Given the description of an element on the screen output the (x, y) to click on. 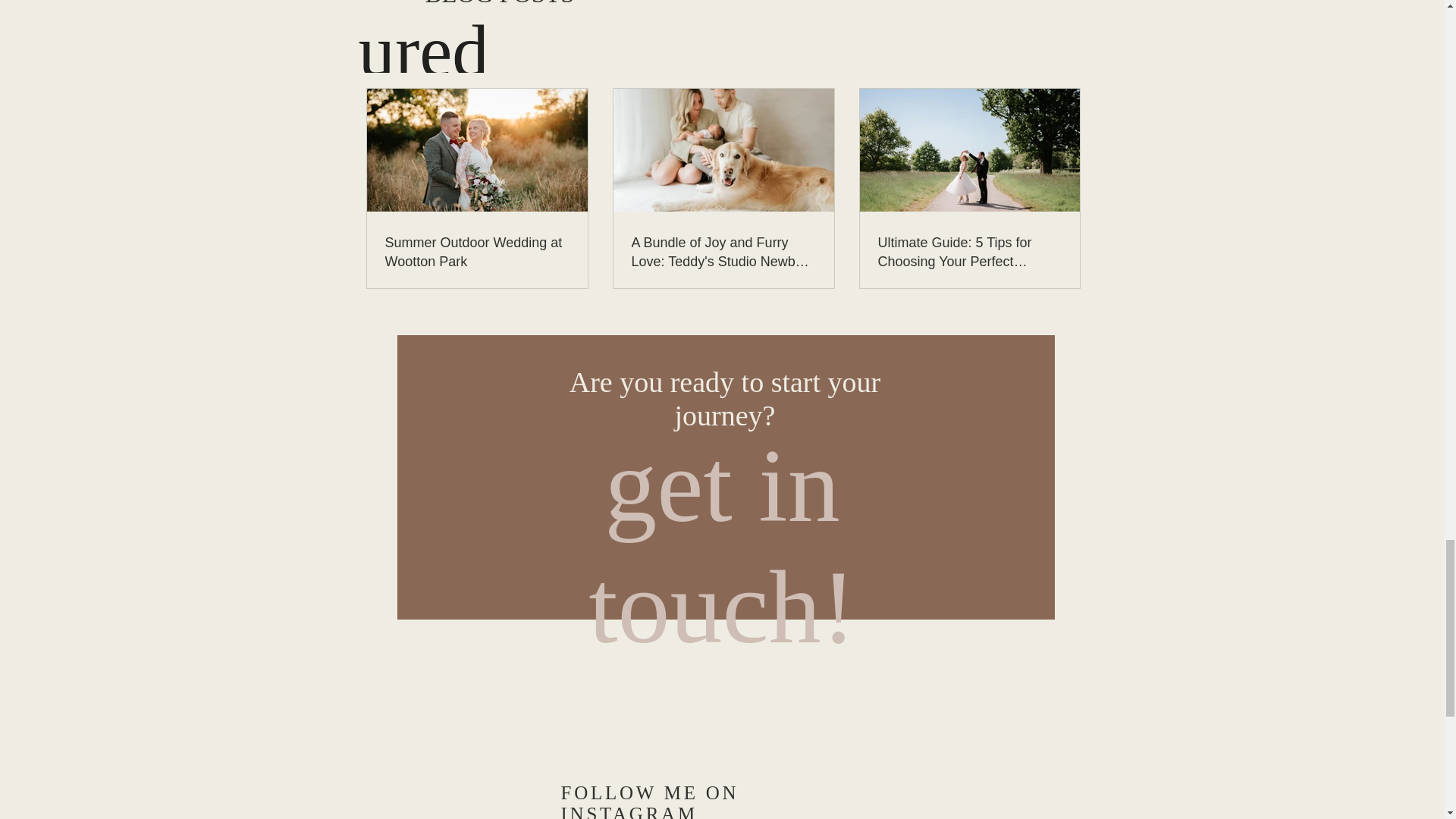
Say Hello (722, 673)
Summer Outdoor Wedding at Wootton Park (477, 252)
get in touch! (722, 544)
